Given the description of an element on the screen output the (x, y) to click on. 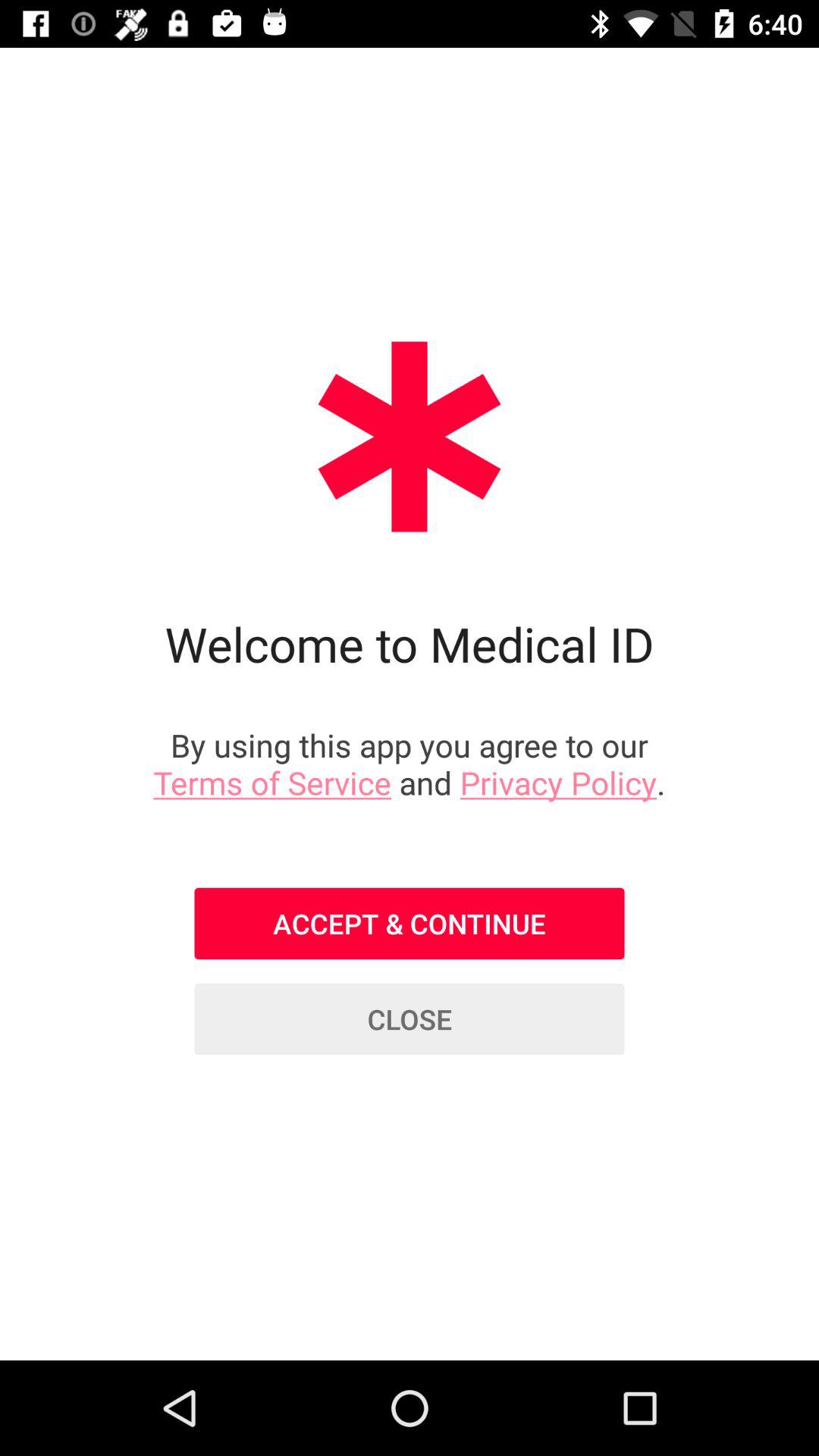
tap the icon below the accept & continue icon (409, 1018)
